Given the description of an element on the screen output the (x, y) to click on. 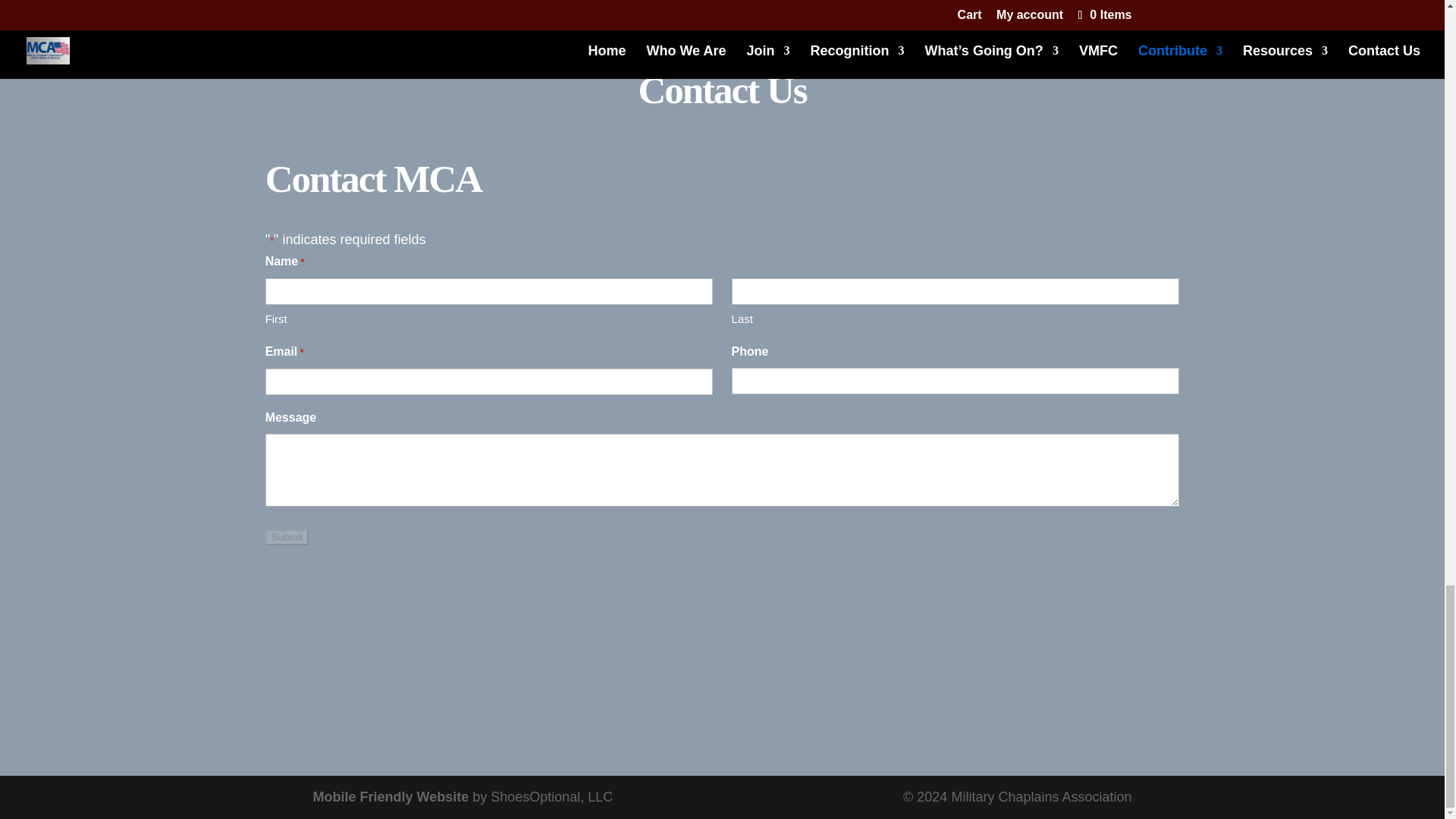
Submit (286, 537)
Mobile Friendly Website (390, 796)
Submit (286, 537)
